Given the description of an element on the screen output the (x, y) to click on. 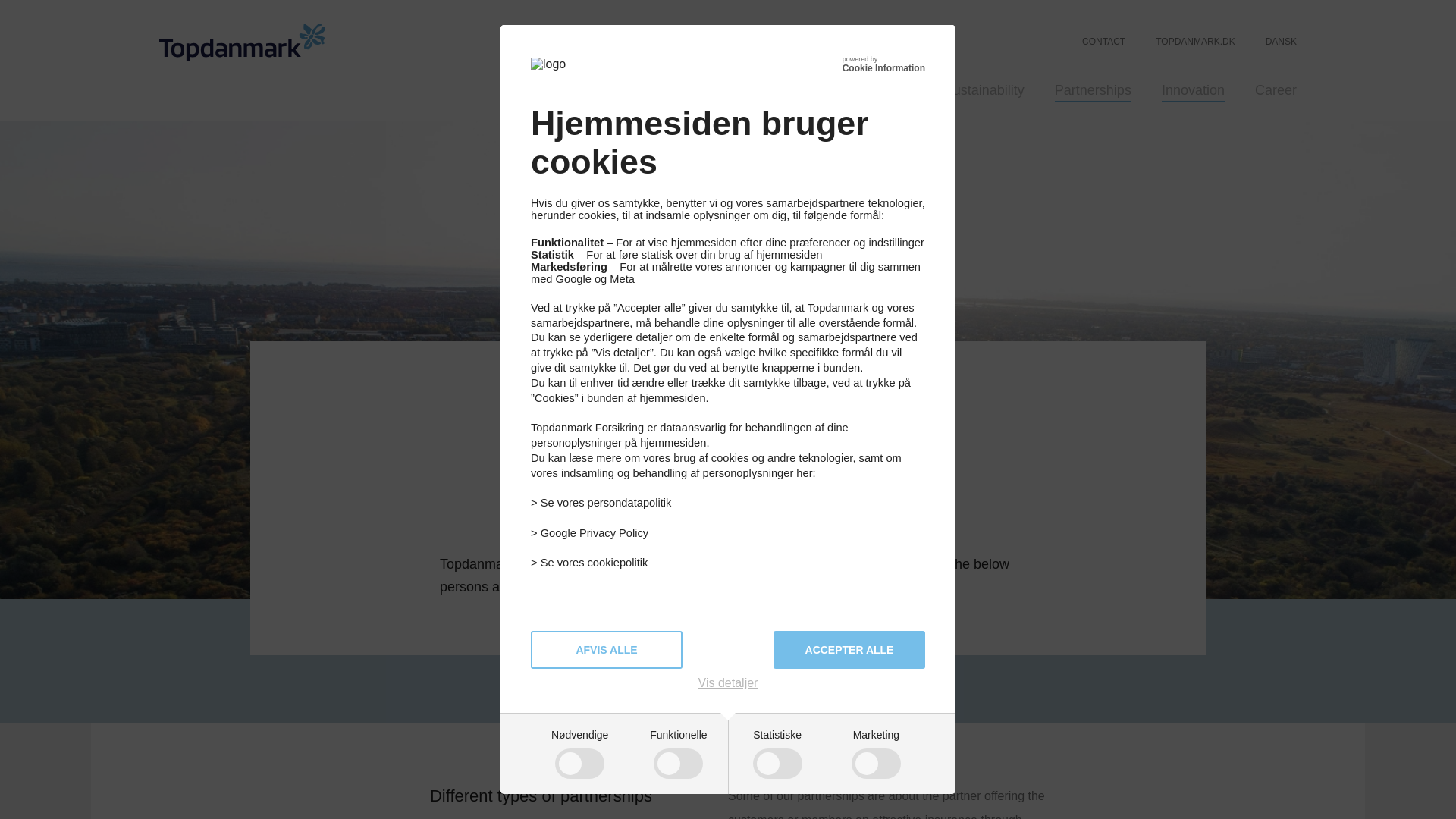
Vis detaljer (728, 683)
AFVIS ALLE (606, 649)
ACCEPTER ALLE (848, 649)
Cookie Information (883, 68)
